Given the description of an element on the screen output the (x, y) to click on. 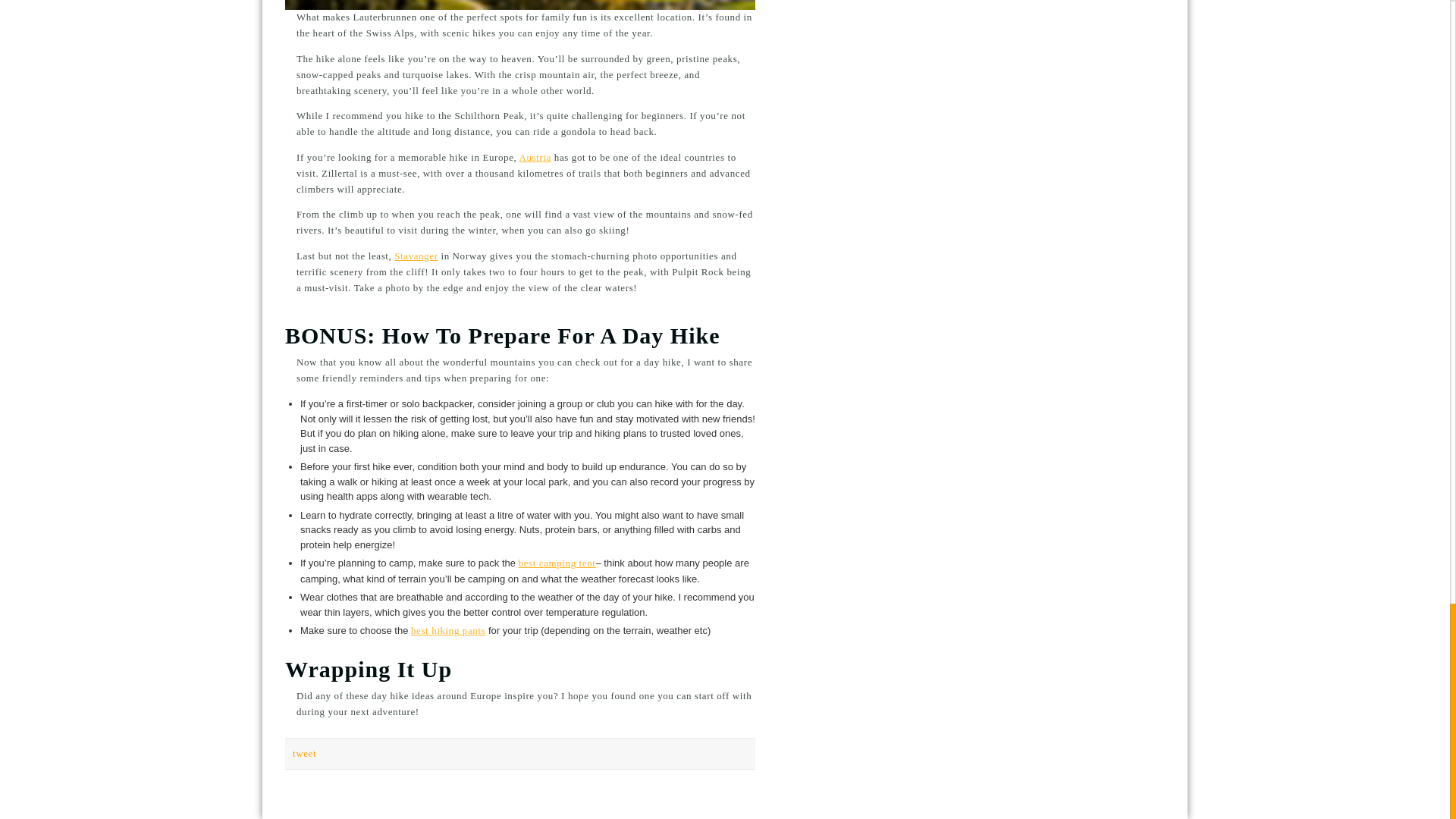
best hiking pants (447, 630)
Austria (535, 156)
best camping tent (556, 562)
tweet (303, 753)
Stavanger (416, 255)
